Given the description of an element on the screen output the (x, y) to click on. 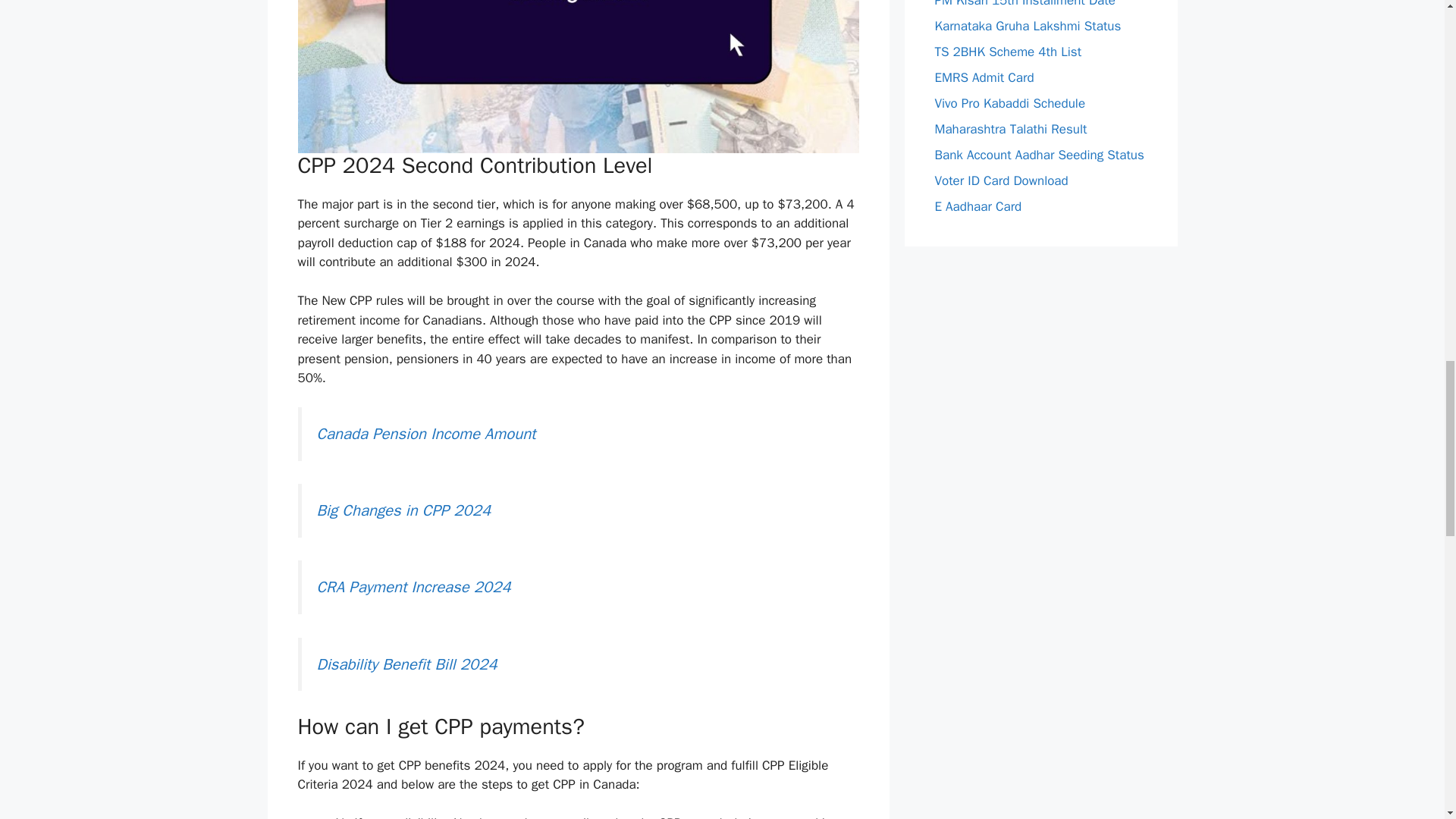
Big Changes in CPP 2024 (404, 510)
Disability Benefit Bill 2024 (407, 664)
Canada Pension Income Amount (426, 433)
CRA Payment Increase 2024 (414, 587)
